Given the description of an element on the screen output the (x, y) to click on. 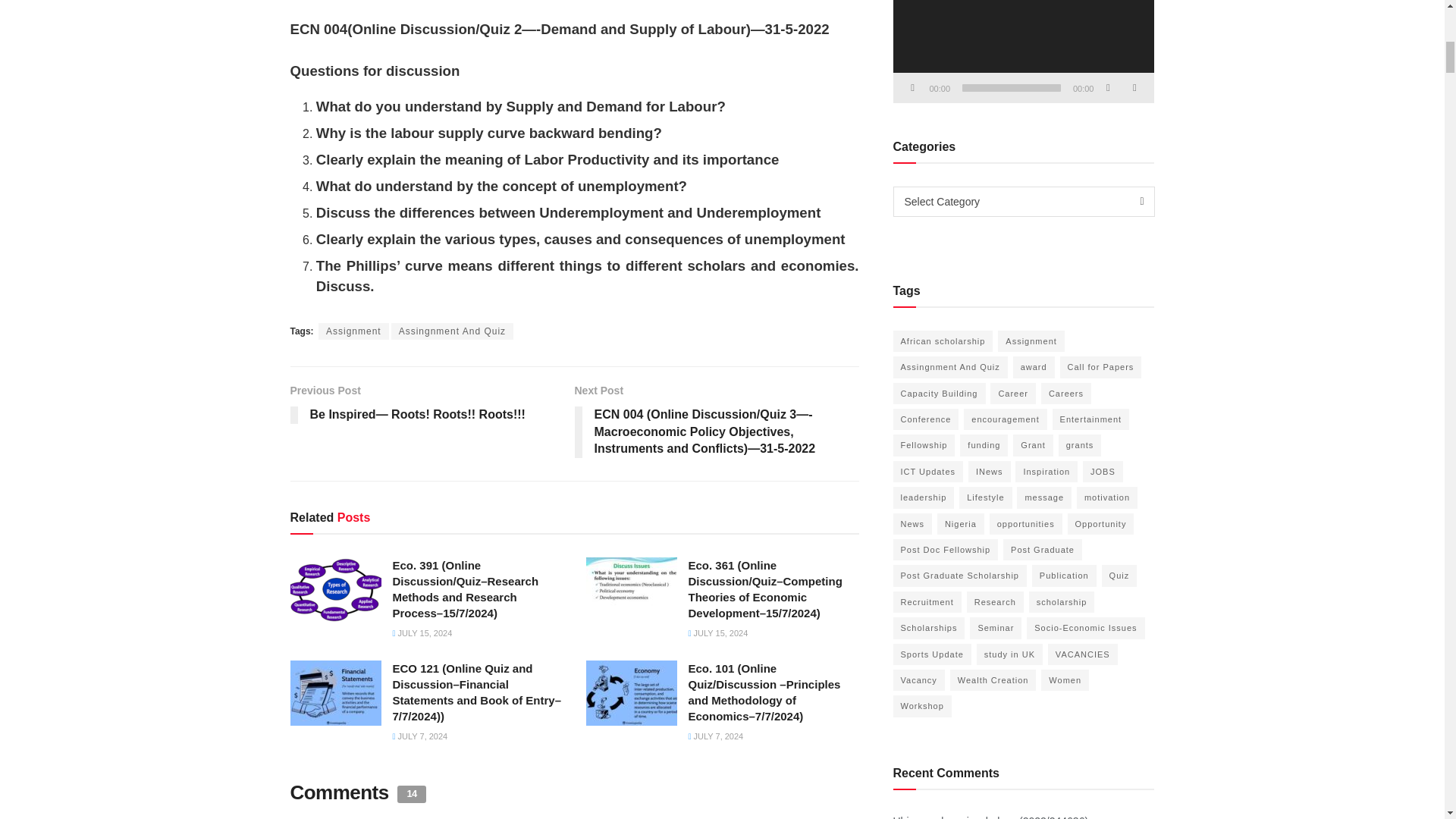
Play (912, 87)
Mute (1107, 87)
Fullscreen (1133, 87)
